Given the description of an element on the screen output the (x, y) to click on. 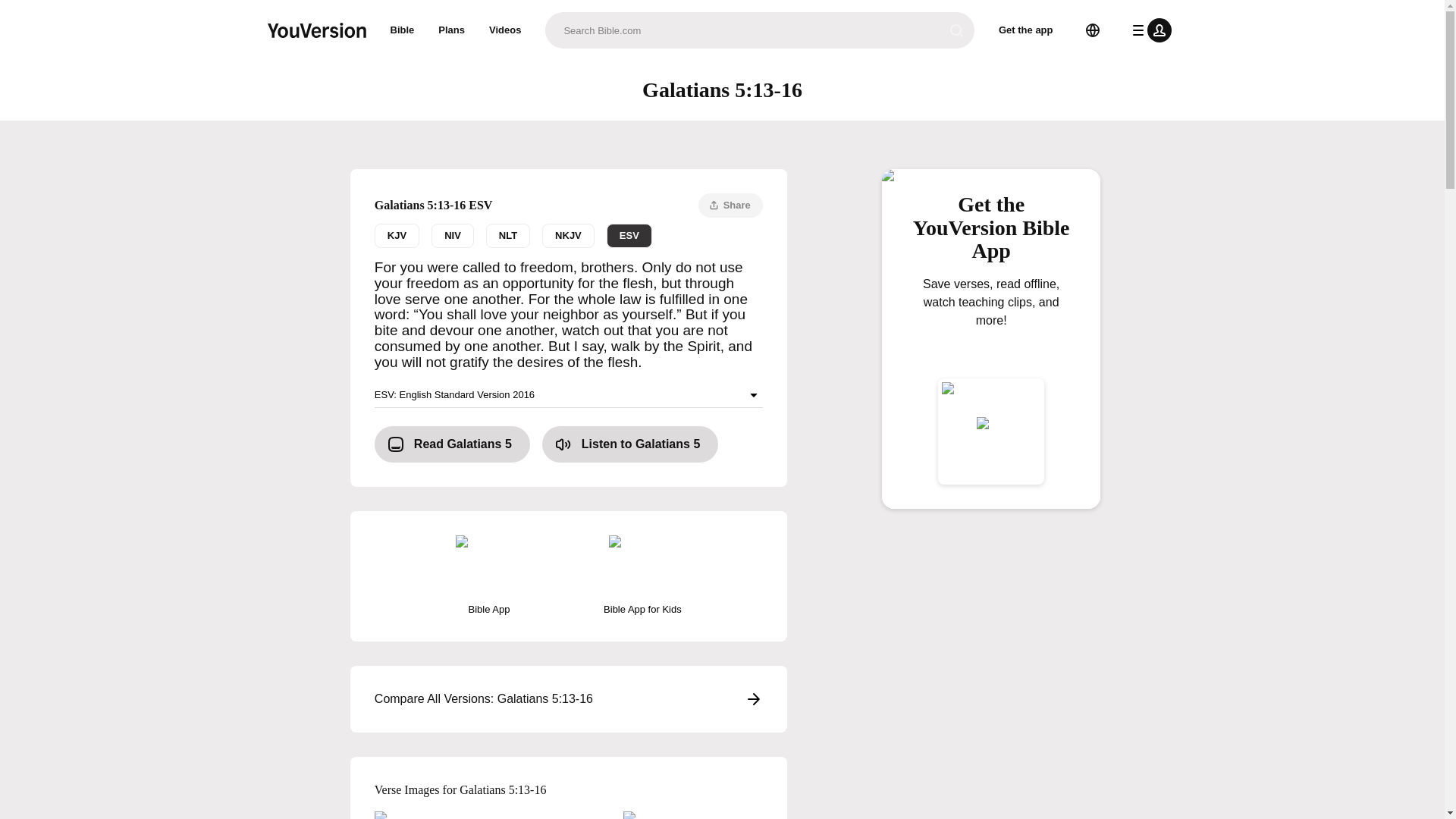
Videos (504, 29)
Verse Images for Galatians 5:13-16 (568, 790)
Get the app (1026, 29)
Share (730, 205)
Plans (451, 29)
NKJV (567, 235)
Compare All Versions: Galatians 5:13-16 (568, 699)
ESV: English Standard Version 2016 (568, 395)
ESV (629, 235)
Bible App for Kids (642, 576)
Listen to Galatians 5 (630, 443)
NLT (507, 235)
KJV (396, 235)
NIV (452, 235)
Bible (401, 29)
